Given the description of an element on the screen output the (x, y) to click on. 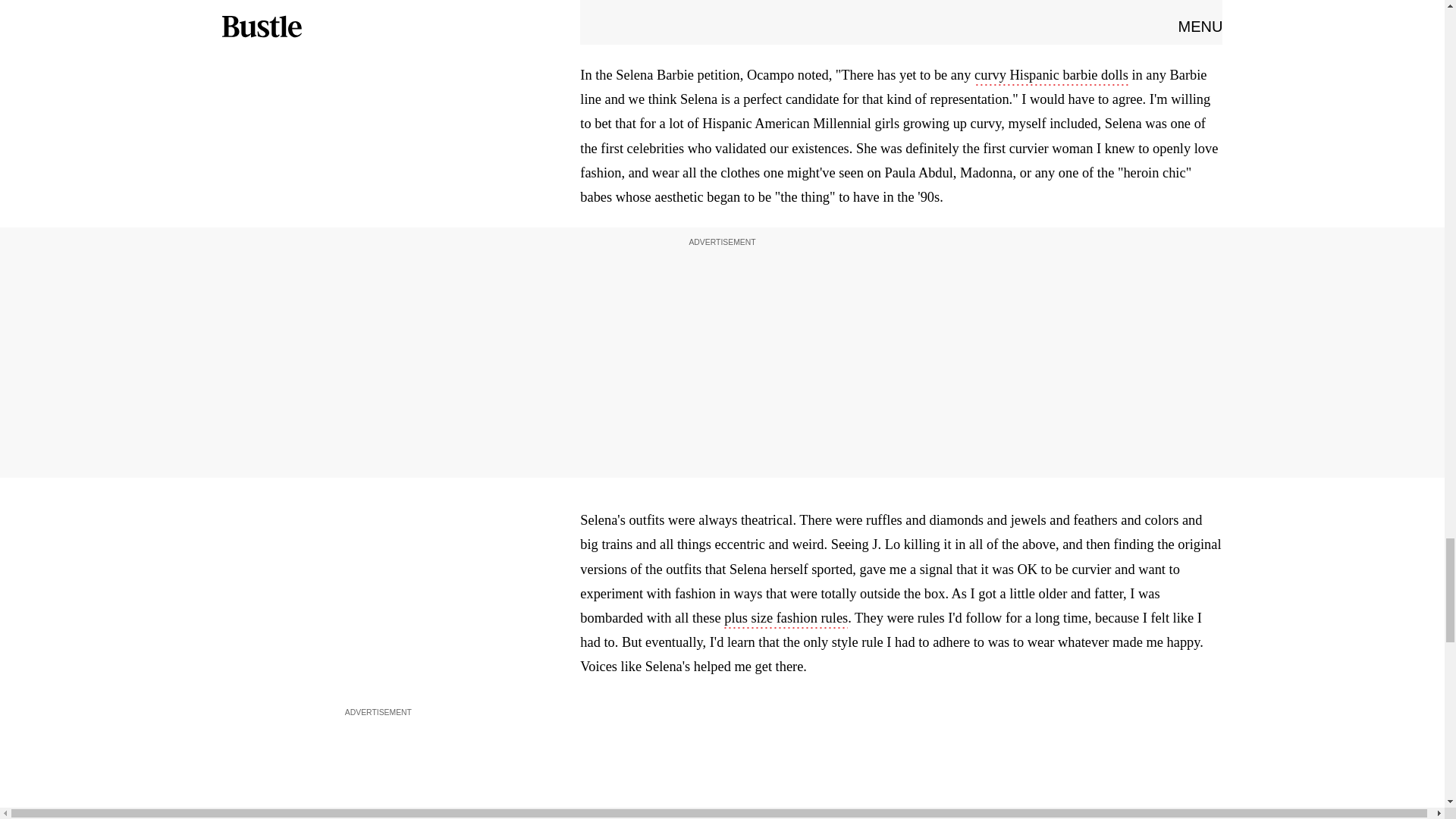
plus size fashion rules (785, 619)
curvy Hispanic barbie dolls (1051, 76)
